Given the description of an element on the screen output the (x, y) to click on. 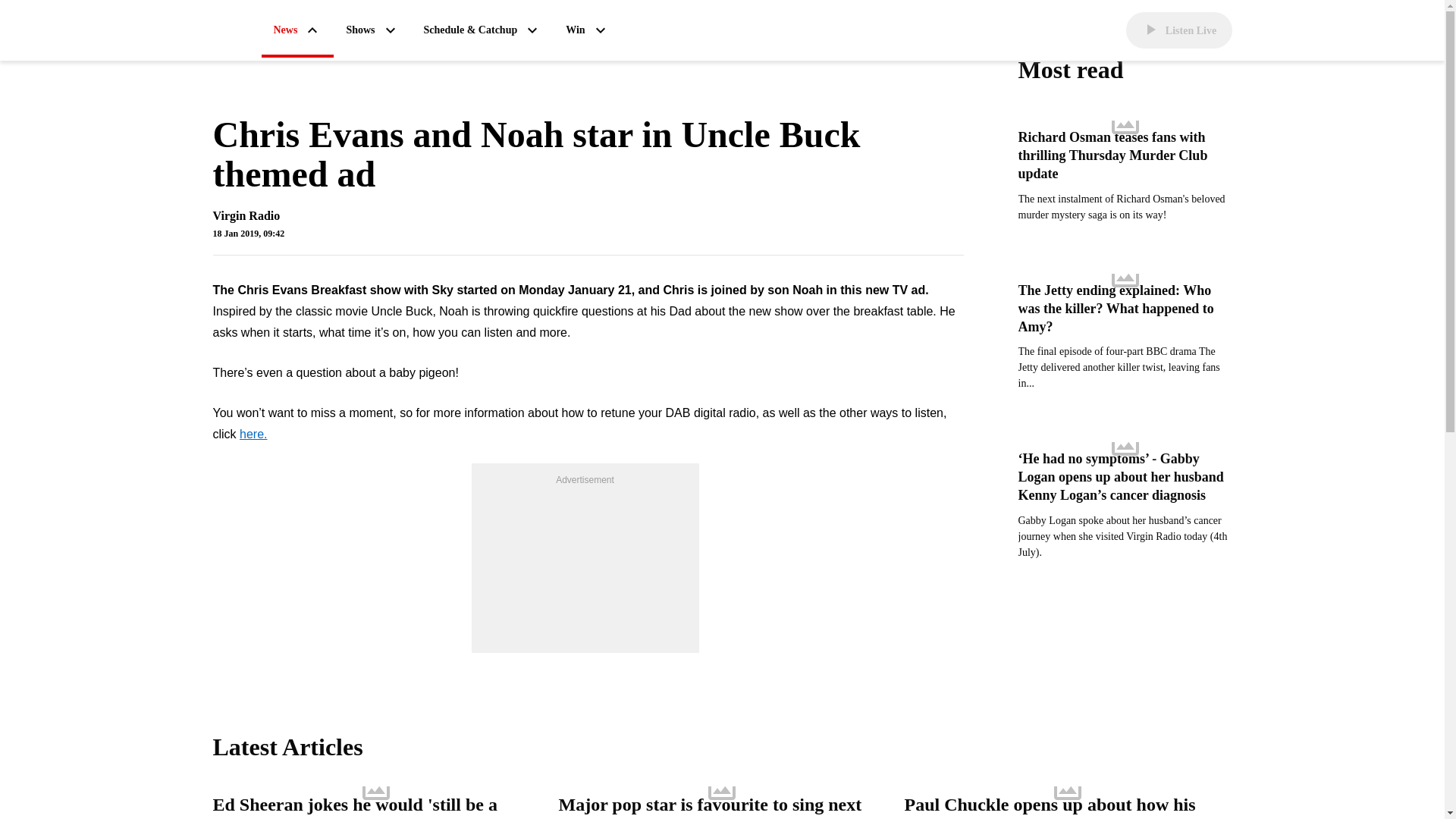
News (296, 31)
Listen Live (1178, 30)
Listen Live (1178, 30)
Win (587, 29)
Shows (371, 29)
Win (587, 29)
Shows (371, 29)
News (296, 31)
Major pop star is favourite to sing next James Bond theme (721, 808)
here. (253, 434)
